Given the description of an element on the screen output the (x, y) to click on. 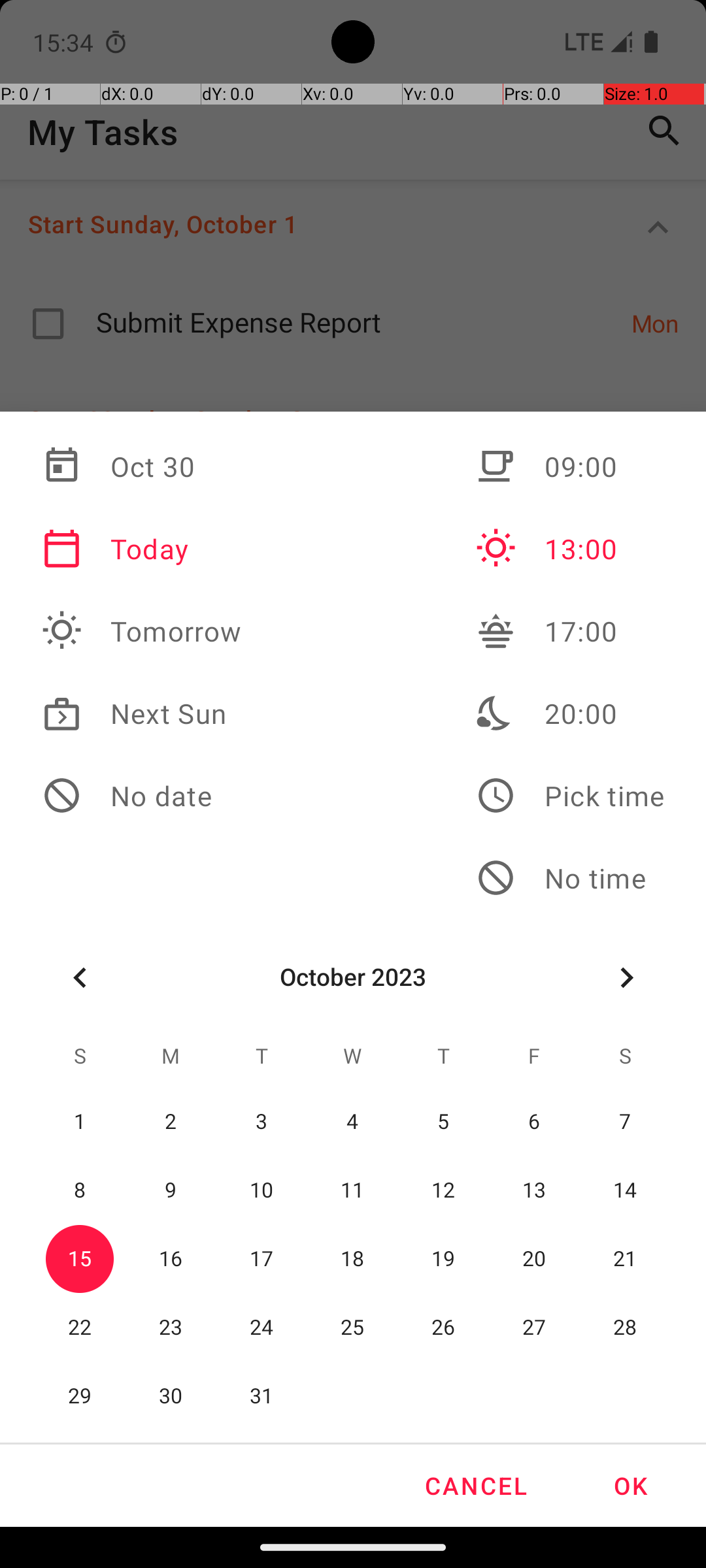
Oct 30 Element type: android.widget.CompoundButton (141, 466)
